Given the description of an element on the screen output the (x, y) to click on. 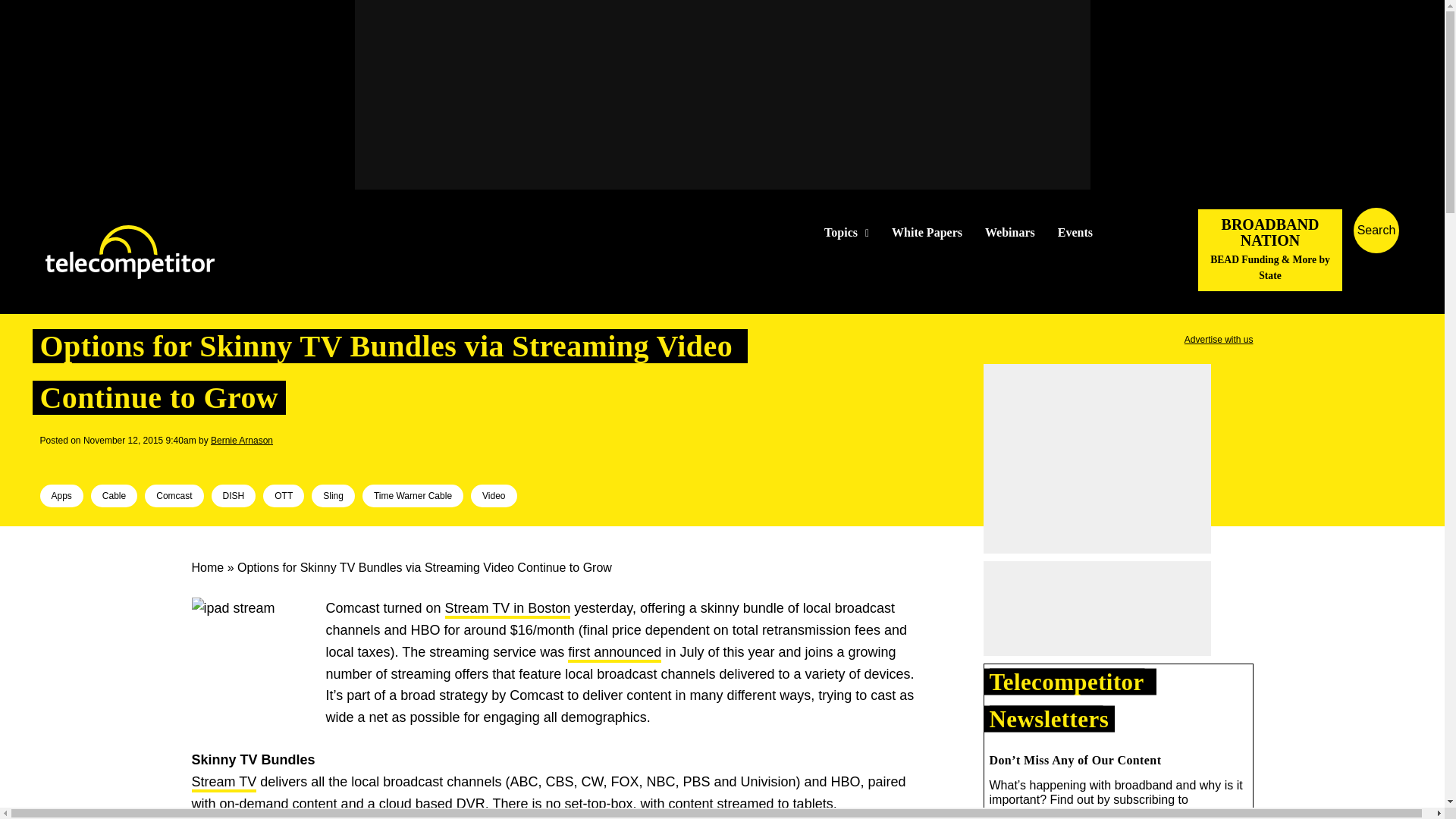
Webinars (1010, 232)
Search (1430, 253)
Share on Facebook (51, 460)
White Papers (927, 232)
Follow Us on LinkedIN (1151, 232)
Topics (846, 232)
Follow Us on Twitter (1127, 232)
Share on Linked In (99, 460)
Search telecompetitor.com (1376, 230)
Spread the word on Twitter (75, 460)
